Given the description of an element on the screen output the (x, y) to click on. 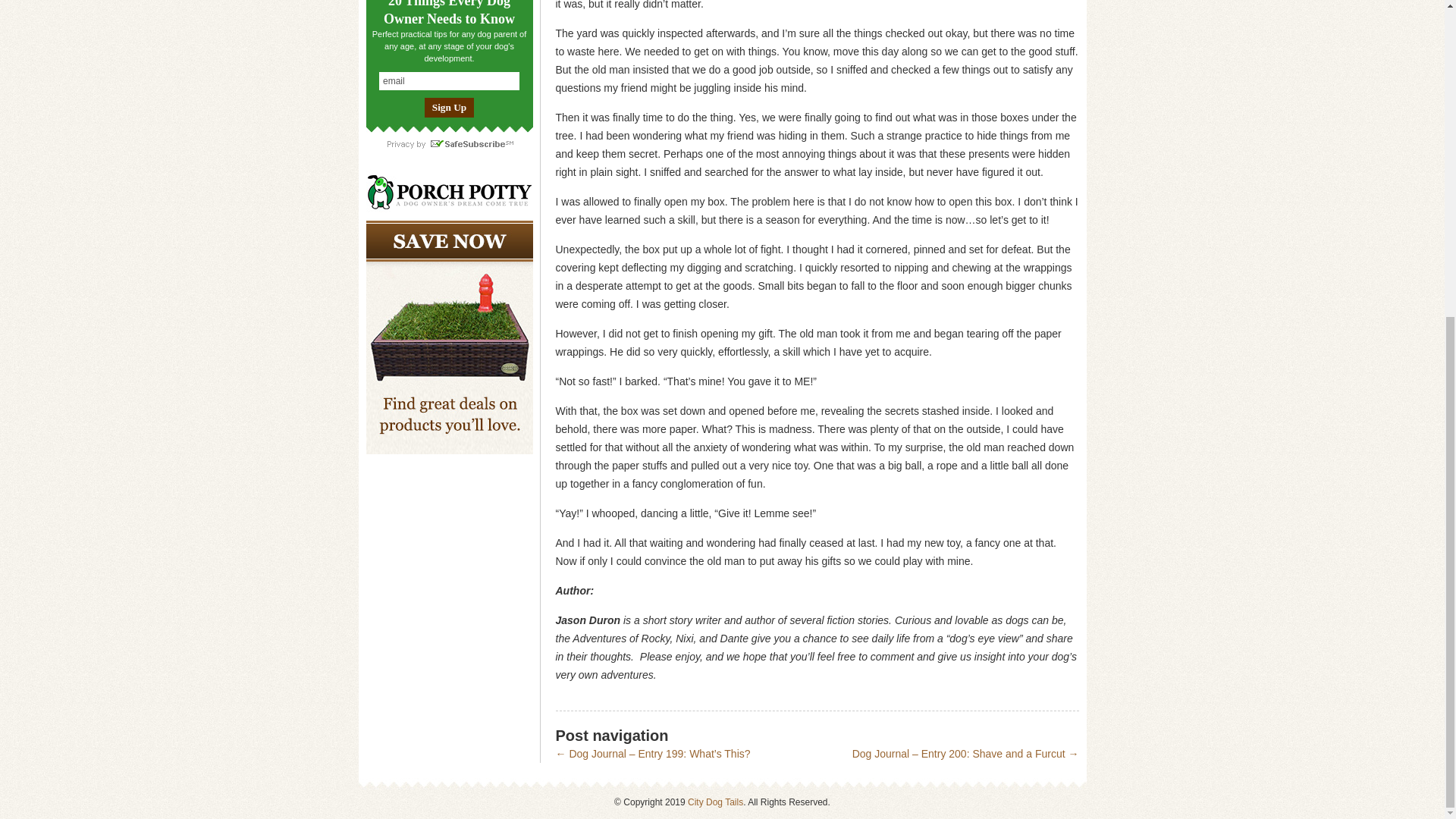
City Dog Tails (714, 801)
City Dog Tails (714, 801)
Sign Up (449, 107)
email (448, 81)
Sign Up (449, 107)
